Given the description of an element on the screen output the (x, y) to click on. 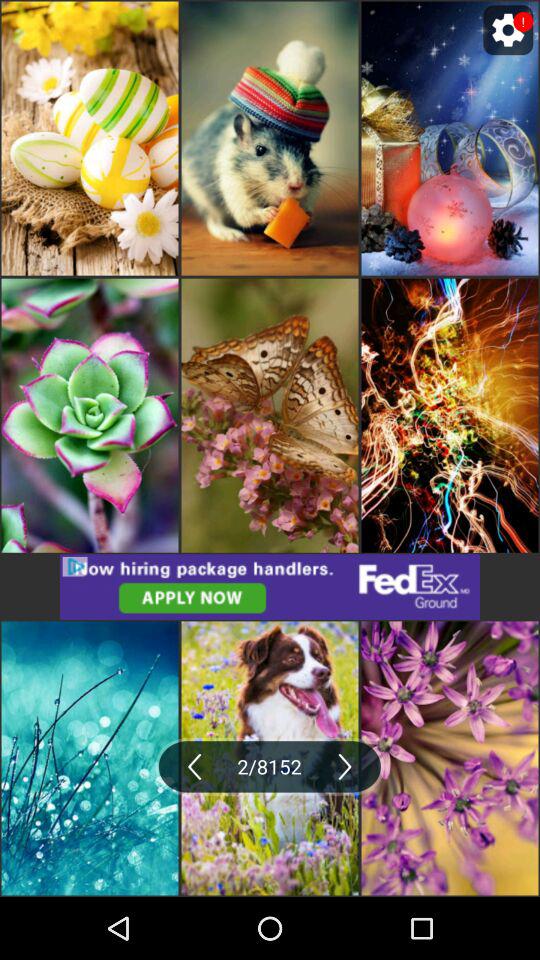
click the advertisement in middle (270, 586)
